Given the description of an element on the screen output the (x, y) to click on. 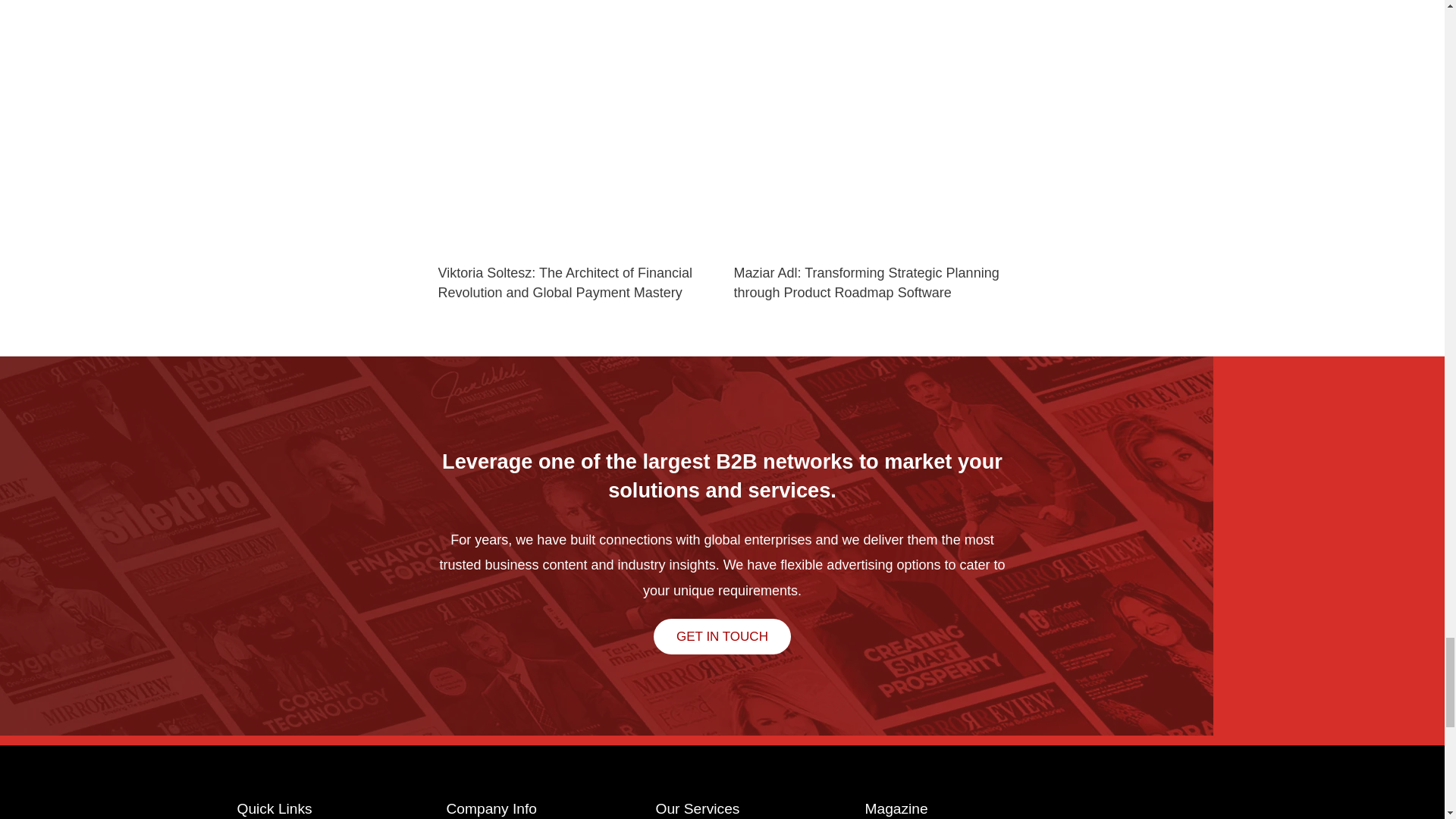
GET IN TOUCH (721, 636)
